Given the description of an element on the screen output the (x, y) to click on. 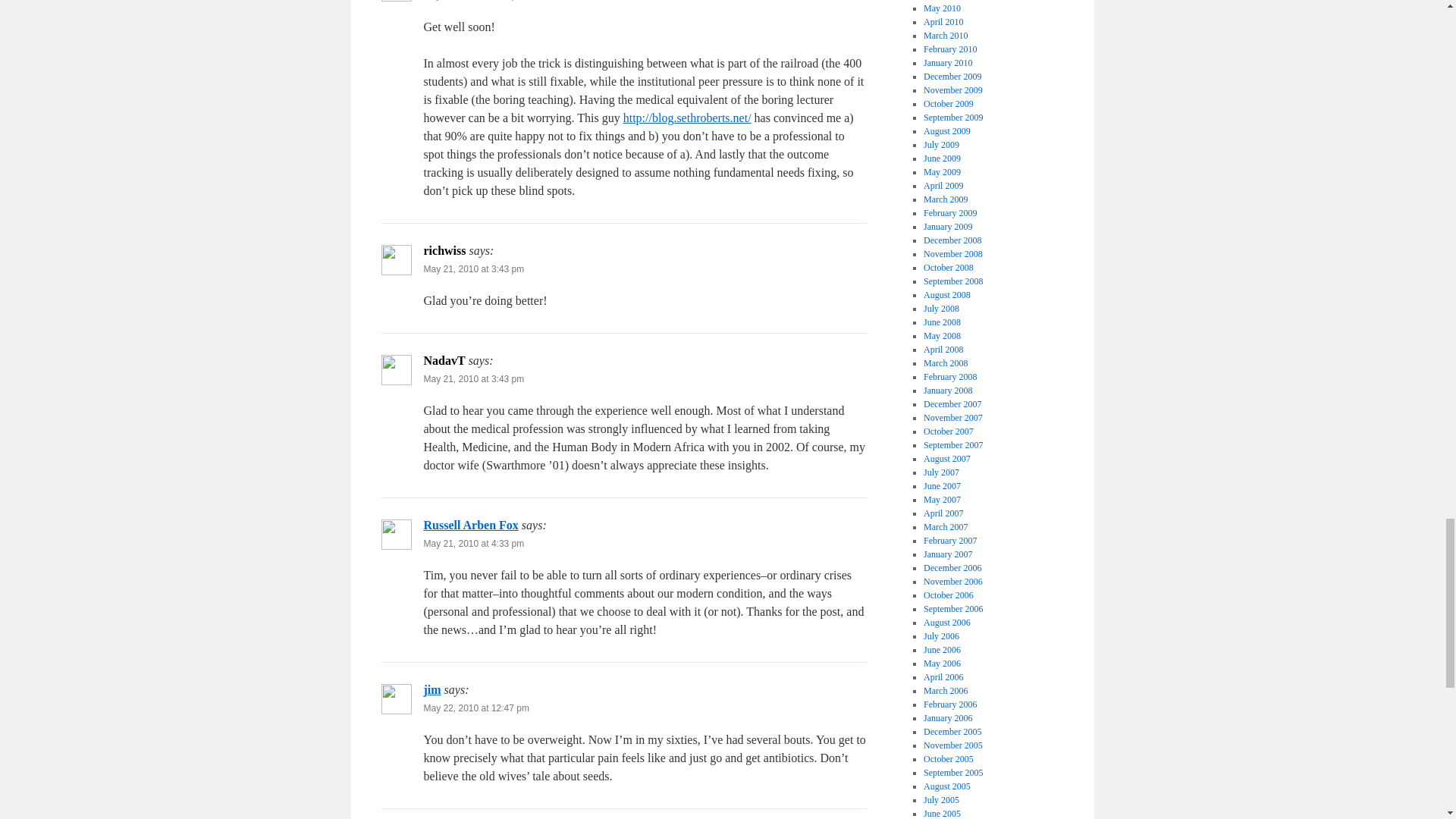
jim (432, 689)
May 21, 2010 at 3:43 pm (473, 378)
May 21, 2010 at 4:33 pm (473, 543)
Russell Arben Fox (470, 524)
May 21, 2010 at 3:43 pm (473, 268)
May 22, 2010 at 12:47 pm (475, 707)
